Given the description of an element on the screen output the (x, y) to click on. 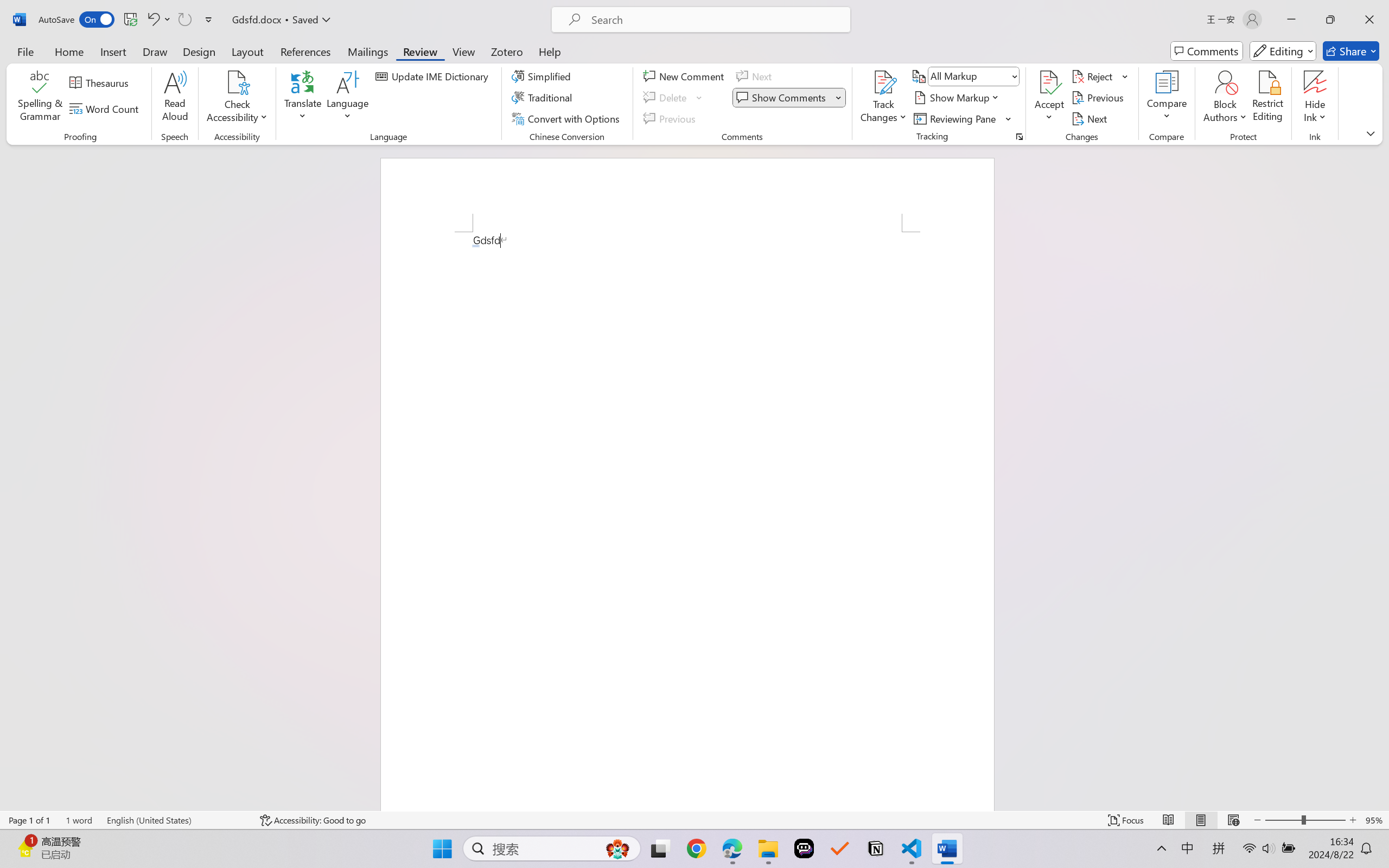
Reviewing Pane (955, 118)
Check Accessibility (237, 81)
Reviewing Pane (962, 118)
Accept (1049, 97)
Read Aloud (174, 97)
Thesaurus... (101, 82)
Page 1 content (687, 521)
Traditional (543, 97)
Word Count (105, 108)
